Given the description of an element on the screen output the (x, y) to click on. 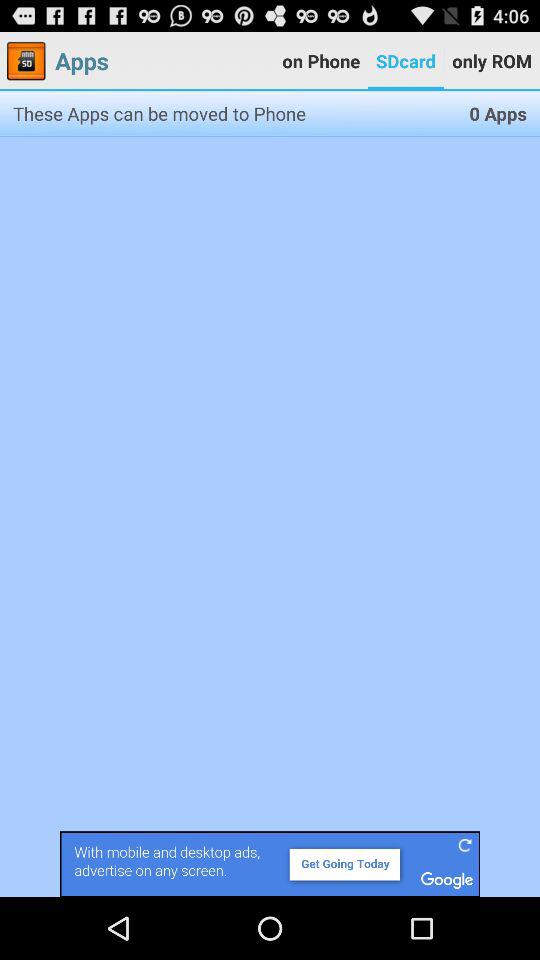
open an advertisement (270, 864)
